Given the description of an element on the screen output the (x, y) to click on. 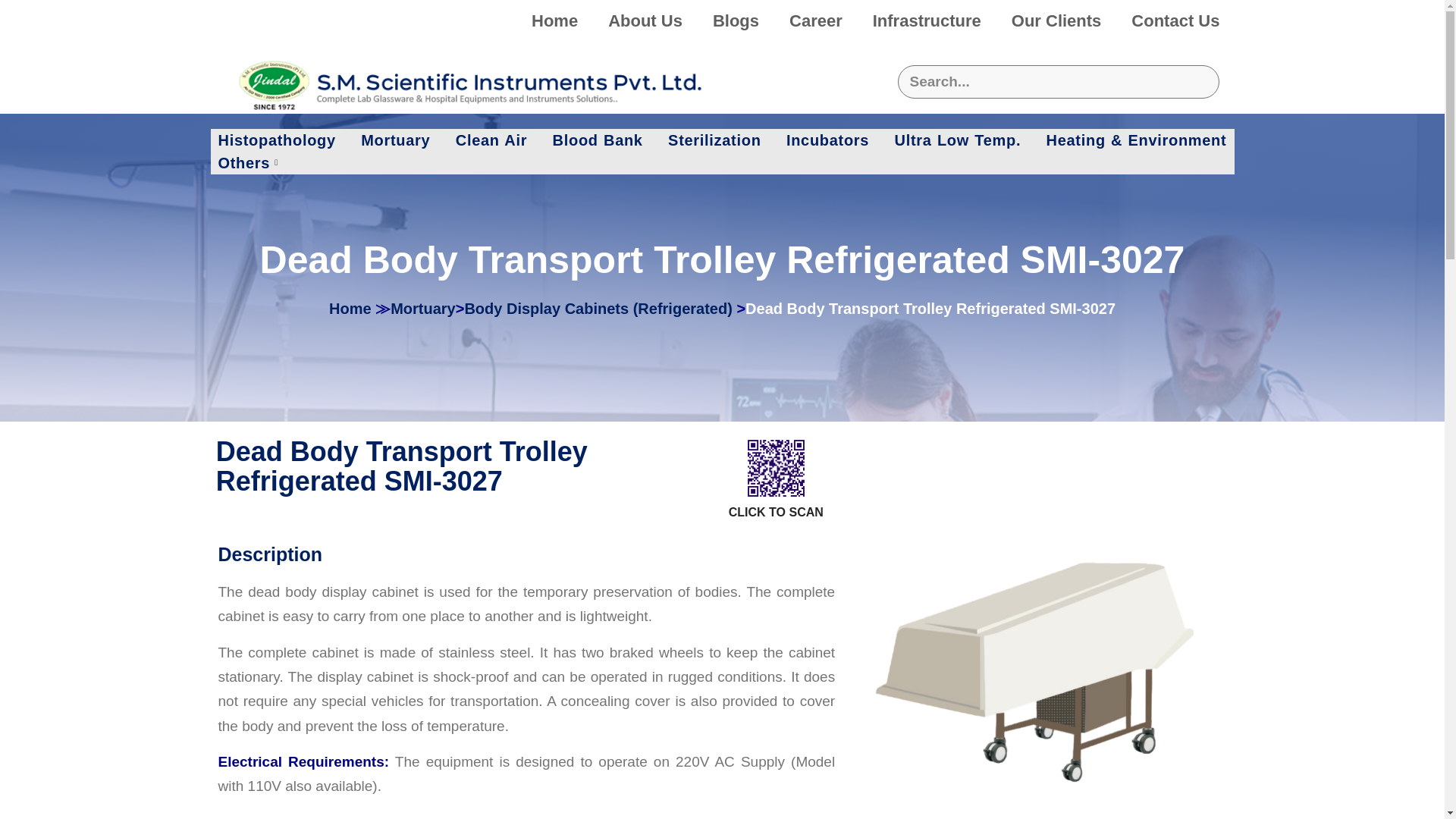
About Us (644, 21)
Contact Us (1175, 21)
Our Clients (1055, 21)
Infrastructure (926, 21)
Blogs (735, 21)
Career (815, 21)
Search (1059, 81)
Home (554, 21)
